Given the description of an element on the screen output the (x, y) to click on. 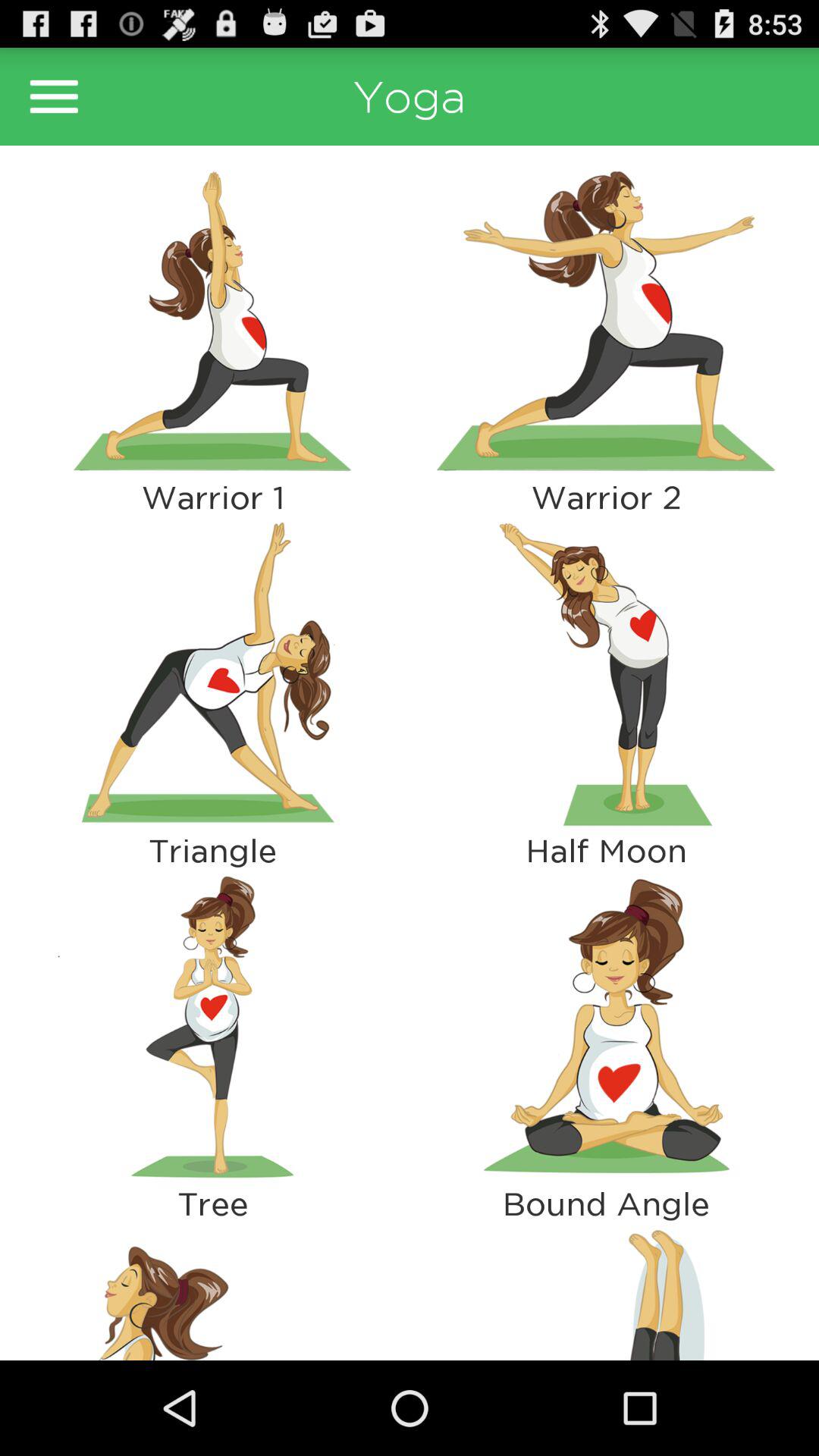
turn off the icon above the tree (212, 1026)
